Given the description of an element on the screen output the (x, y) to click on. 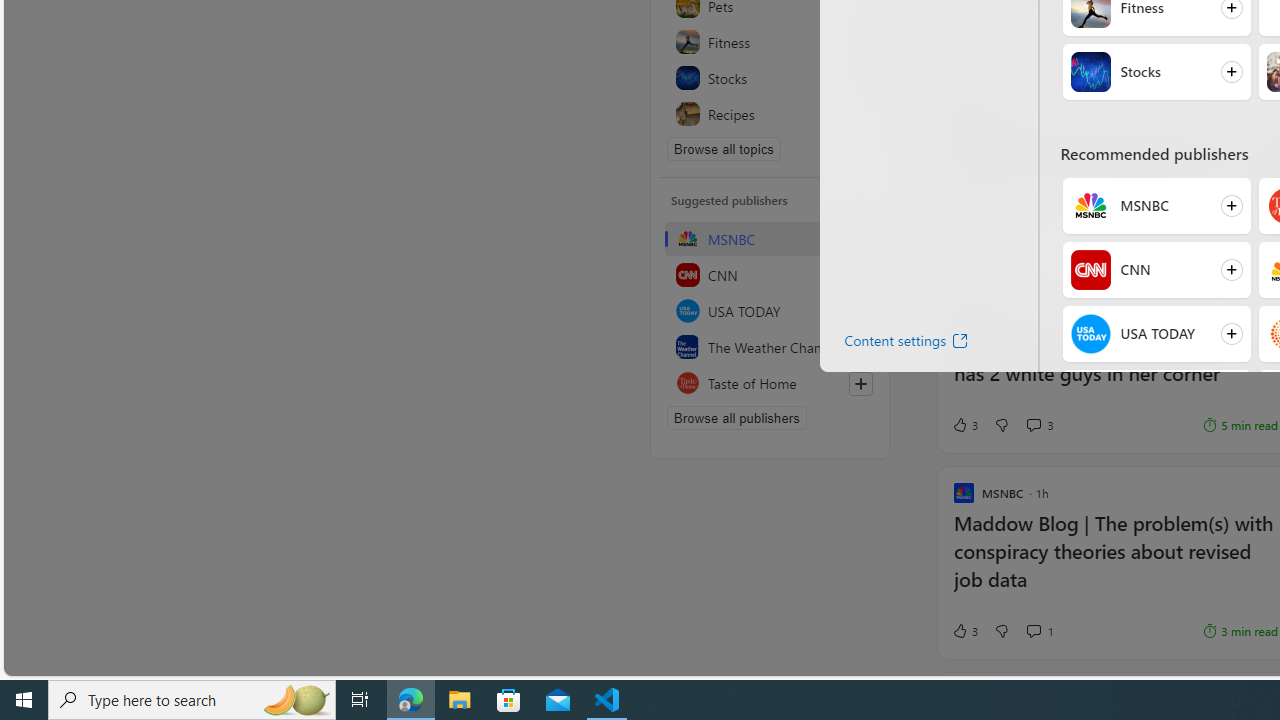
5 Like (964, 246)
Browse all topics (724, 148)
Follow MSNBC (1156, 205)
Dislike (1001, 630)
View comments 1 Comment (1039, 630)
USA TODAY (770, 310)
Follow Stocks (1156, 71)
6 Like (964, 40)
Browse all publishers (736, 417)
View comments 3 Comment (1033, 424)
Follow CNN (1156, 269)
Recipes (770, 114)
MSNBC (770, 238)
